Given the description of an element on the screen output the (x, y) to click on. 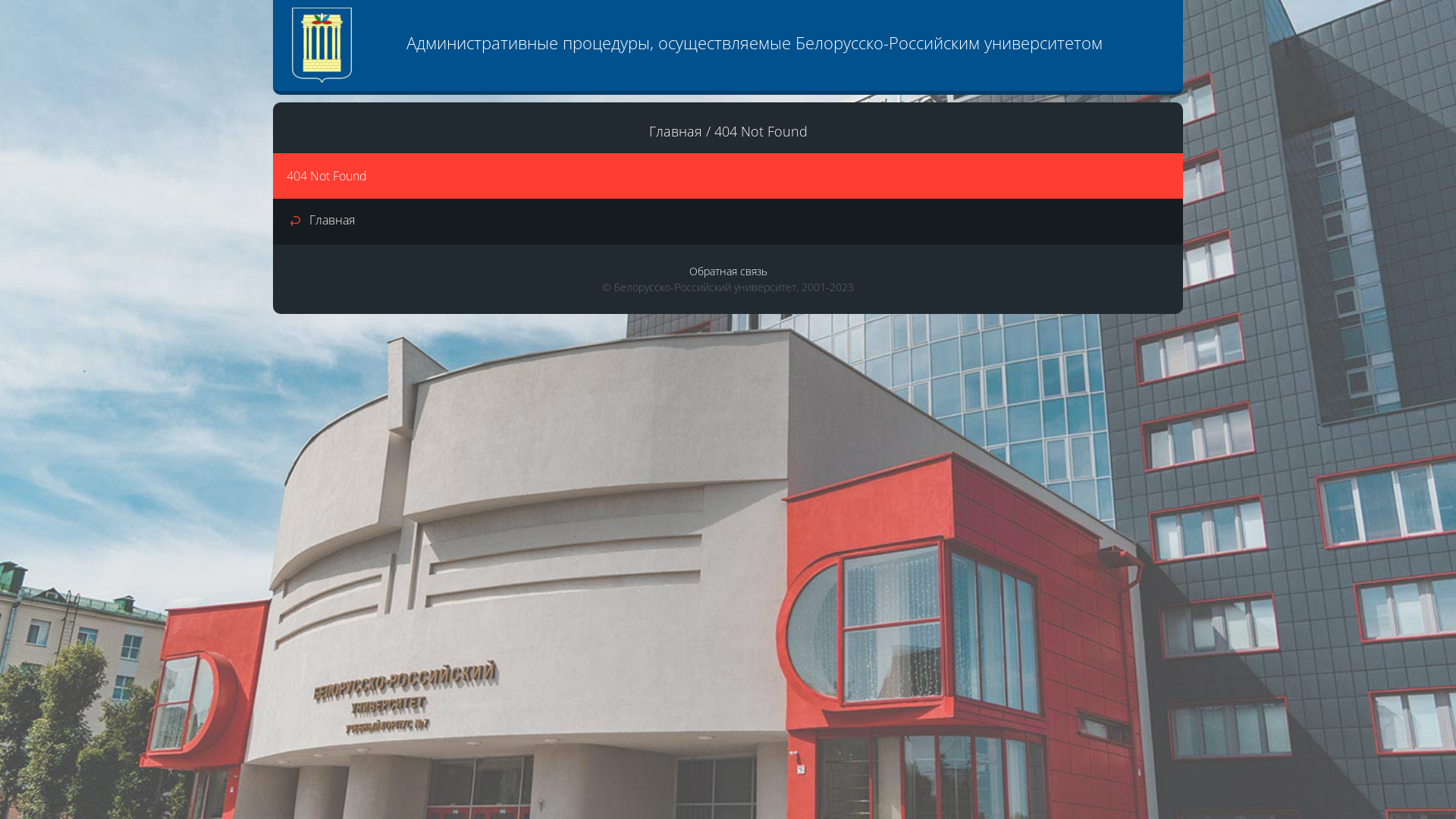
404 Not Found Element type: text (760, 131)
